Given the description of an element on the screen output the (x, y) to click on. 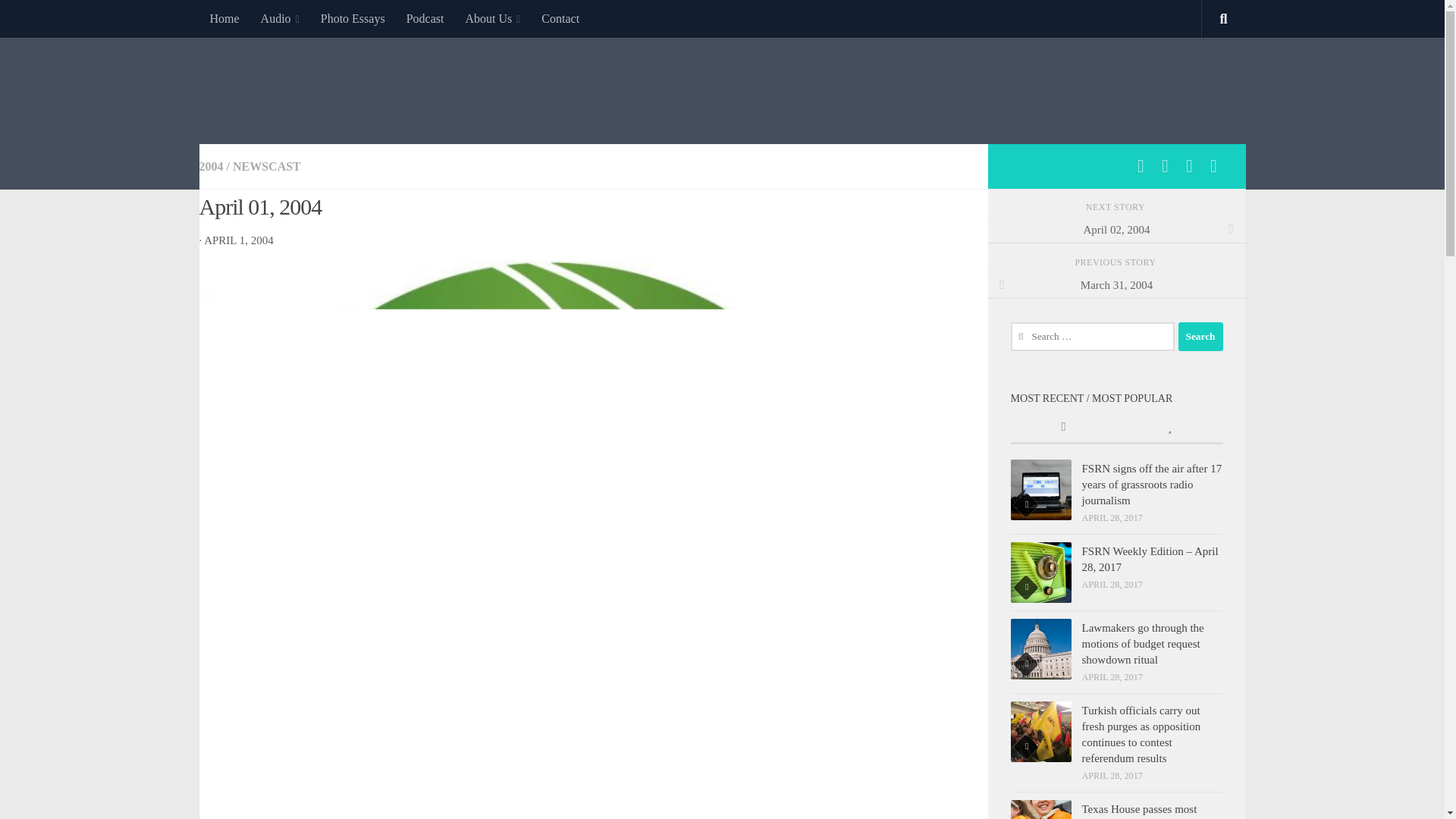
Contact (560, 18)
NEWSCAST (266, 165)
Podcast (425, 18)
About Us (492, 18)
Search (1200, 336)
Follow us on Tumblr (1213, 166)
Home (223, 18)
Recent Posts (1063, 427)
2004 (210, 165)
Latest Audio (280, 18)
Audio (280, 18)
Popular Posts (1169, 427)
Follow us on Facebook (1140, 166)
Search (1200, 336)
Follow us on Soundcloud (1188, 166)
